Given the description of an element on the screen output the (x, y) to click on. 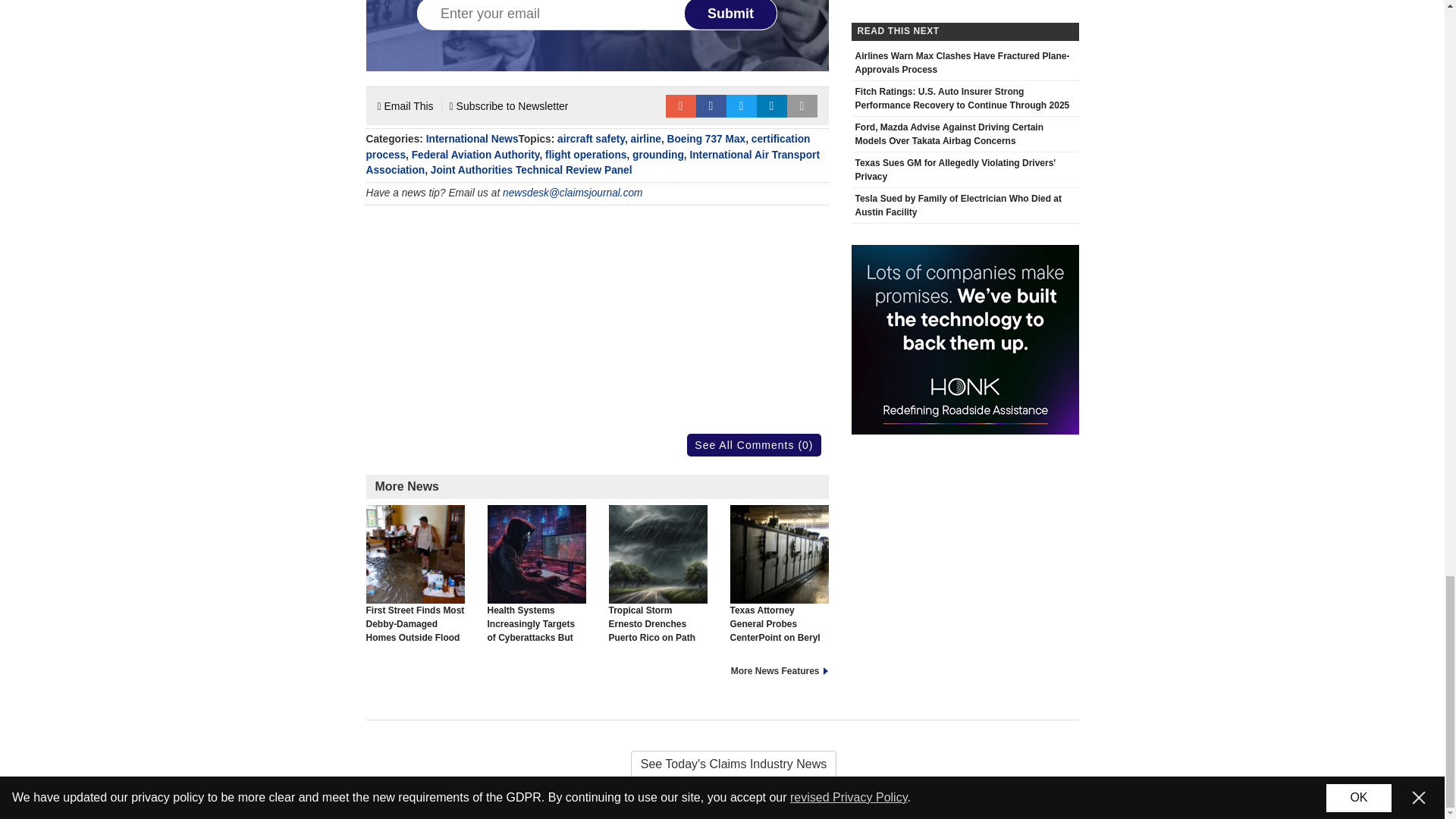
Post to Facebook. (710, 106)
Submit (730, 15)
Email This (405, 106)
Share on Twitter. (741, 106)
Email to a friend (680, 106)
Print Article (801, 106)
See Today's Claims Industry News (721, 764)
Share on LinkedIn. (772, 106)
See Today's Claims Industry News (721, 764)
